Given the description of an element on the screen output the (x, y) to click on. 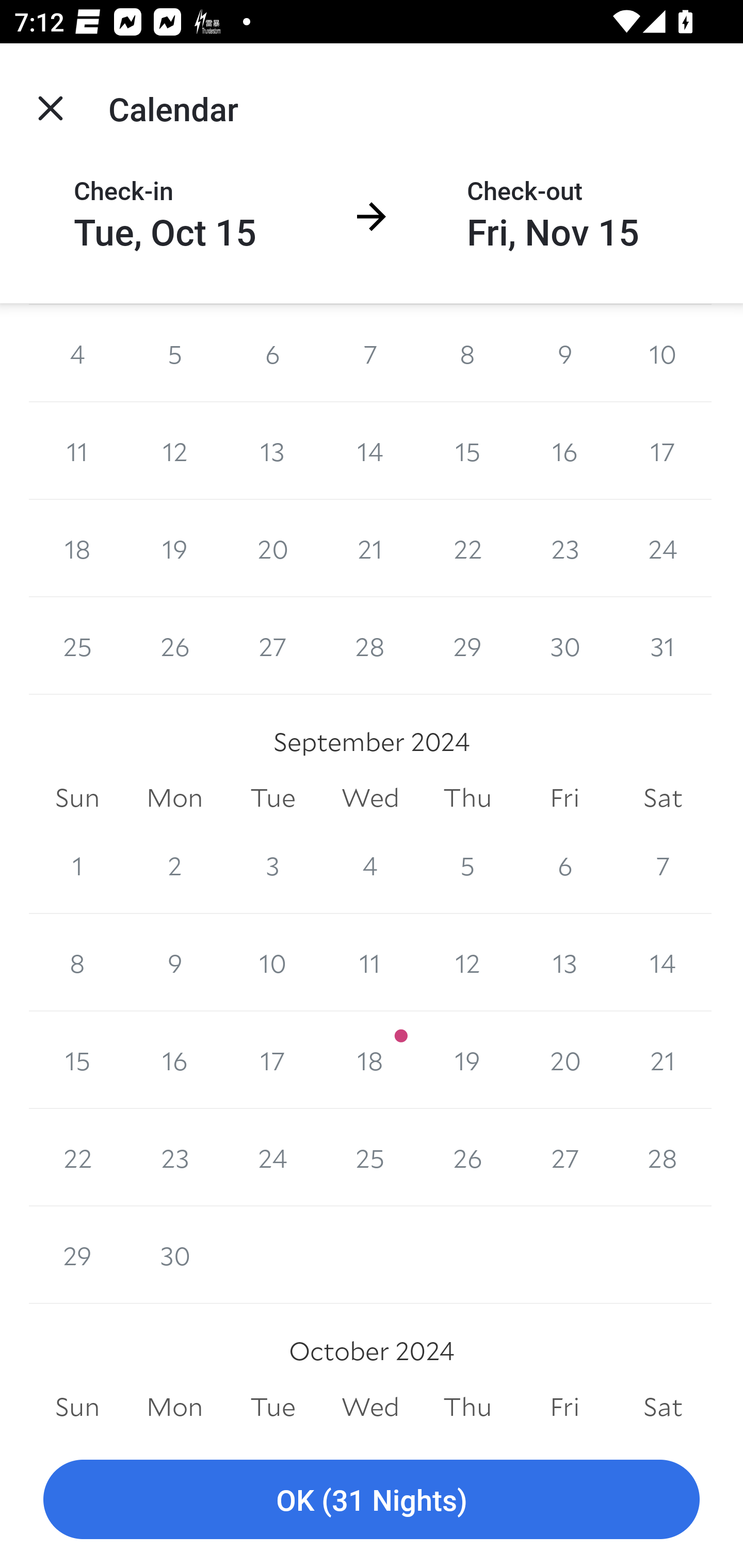
4 4 August 2024 (77, 353)
5 5 August 2024 (174, 353)
6 6 August 2024 (272, 353)
7 7 August 2024 (370, 353)
8 8 August 2024 (467, 353)
9 9 August 2024 (564, 353)
10 10 August 2024 (662, 353)
11 11 August 2024 (77, 451)
12 12 August 2024 (174, 451)
13 13 August 2024 (272, 451)
14 14 August 2024 (370, 451)
15 15 August 2024 (467, 451)
16 16 August 2024 (564, 451)
17 17 August 2024 (662, 451)
18 18 August 2024 (77, 548)
19 19 August 2024 (174, 548)
20 20 August 2024 (272, 548)
21 21 August 2024 (370, 548)
22 22 August 2024 (467, 548)
23 23 August 2024 (564, 548)
24 24 August 2024 (662, 548)
25 25 August 2024 (77, 645)
26 26 August 2024 (174, 645)
27 27 August 2024 (272, 645)
28 28 August 2024 (370, 645)
29 29 August 2024 (467, 645)
30 30 August 2024 (564, 645)
31 31 August 2024 (662, 645)
Sun (77, 797)
Mon (174, 797)
Tue (272, 797)
Wed (370, 797)
Thu (467, 797)
Fri (564, 797)
Sat (662, 797)
1 1 September 2024 (77, 865)
2 2 September 2024 (174, 865)
3 3 September 2024 (272, 865)
4 4 September 2024 (370, 865)
5 5 September 2024 (467, 865)
6 6 September 2024 (564, 865)
7 7 September 2024 (662, 865)
8 8 September 2024 (77, 962)
9 9 September 2024 (174, 962)
10 10 September 2024 (272, 962)
11 11 September 2024 (370, 962)
12 12 September 2024 (467, 962)
13 13 September 2024 (564, 962)
14 14 September 2024 (662, 962)
